Given the description of an element on the screen output the (x, y) to click on. 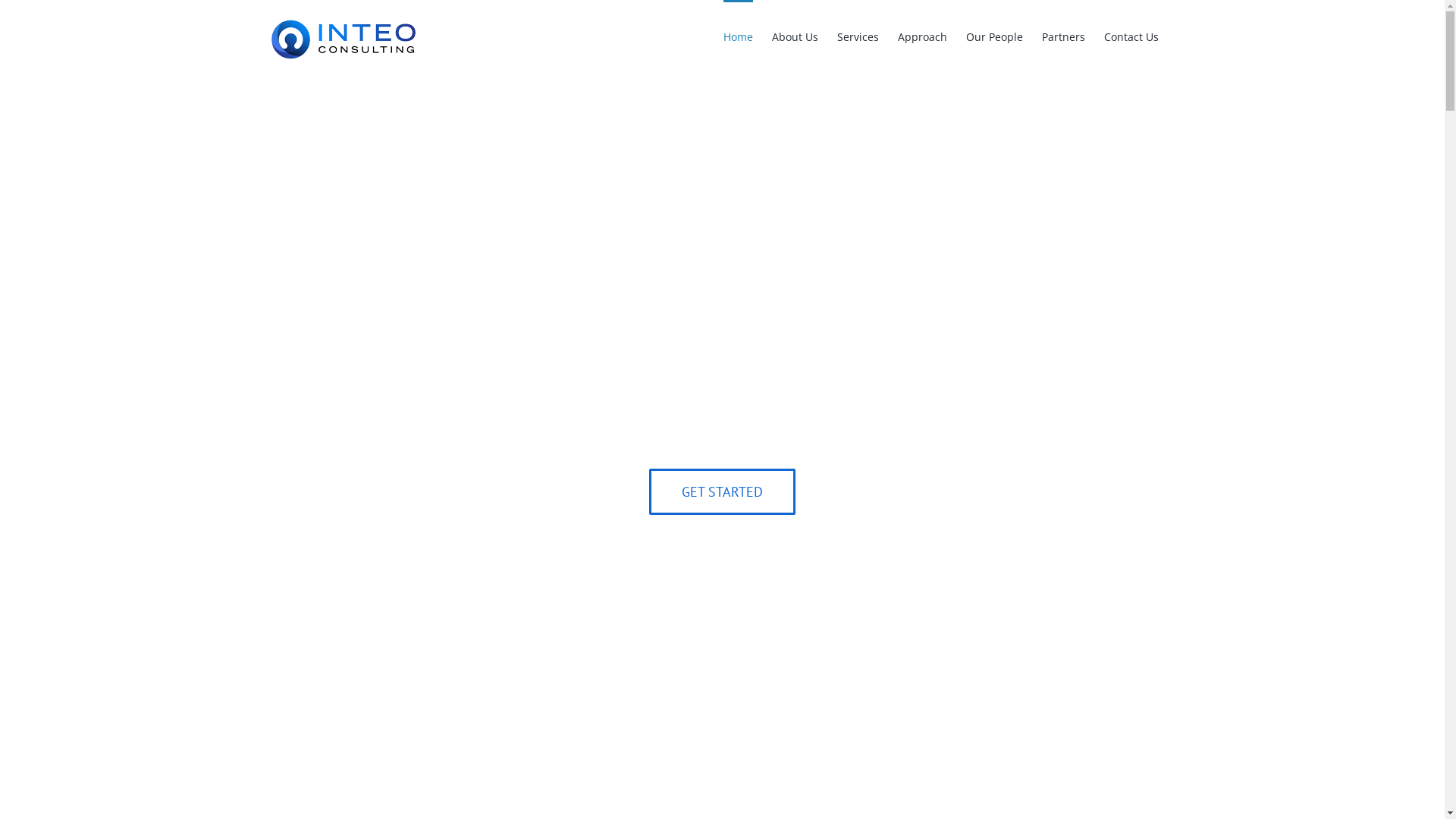
GET STARTED Element type: text (722, 491)
Partners Element type: text (1063, 35)
Services Element type: text (857, 35)
Approach Element type: text (922, 35)
Our People Element type: text (994, 35)
Home Element type: text (738, 35)
About Us Element type: text (794, 35)
Contact Us Element type: text (1131, 35)
